Given the description of an element on the screen output the (x, y) to click on. 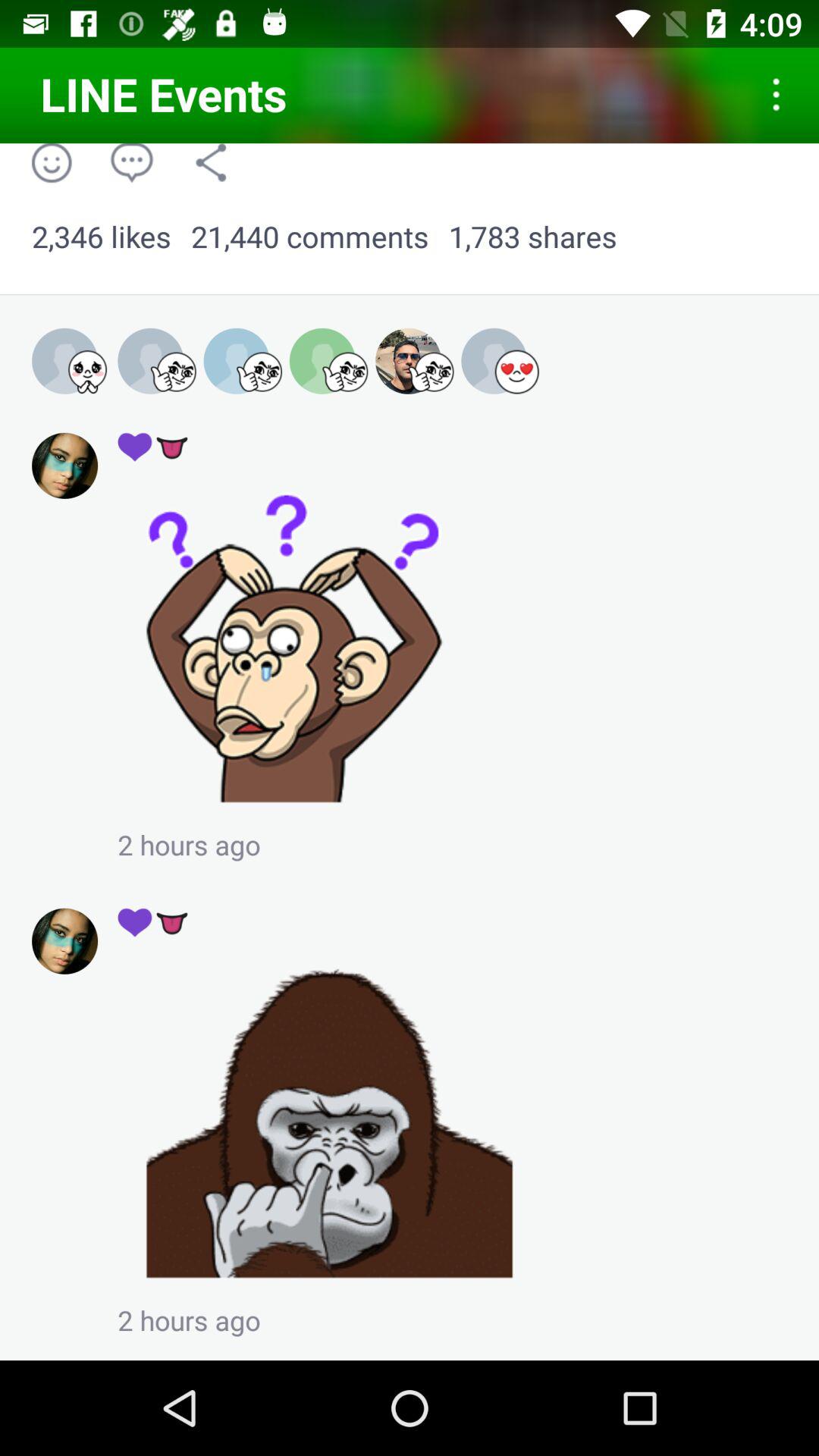
launch app next to 21,440 comments icon (101, 237)
